Given the description of an element on the screen output the (x, y) to click on. 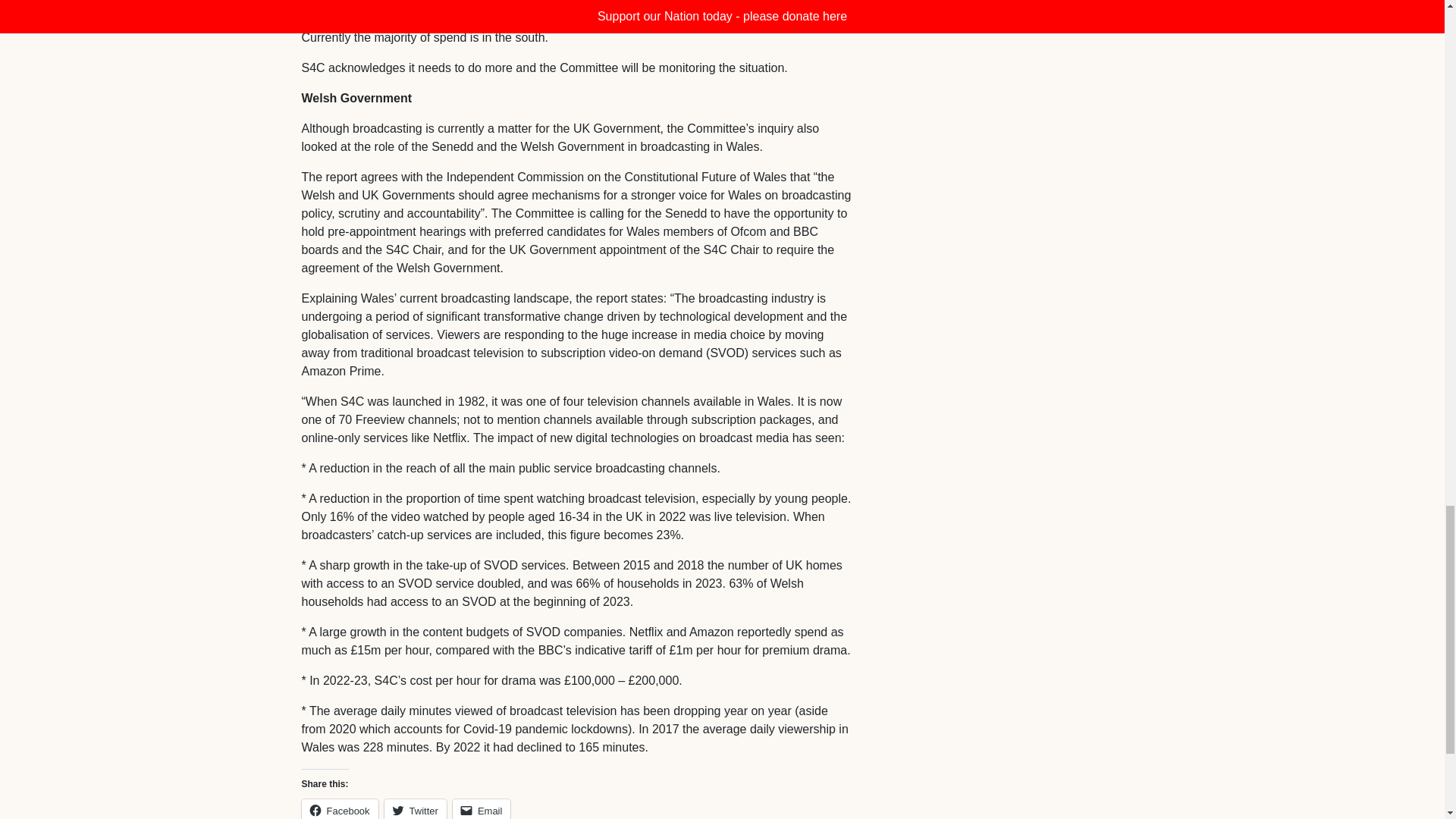
Twitter (415, 809)
Click to share on Twitter (415, 809)
Facebook (339, 809)
Click to share on Facebook (339, 809)
Click to email a link to a friend (481, 809)
Email (481, 809)
